Given the description of an element on the screen output the (x, y) to click on. 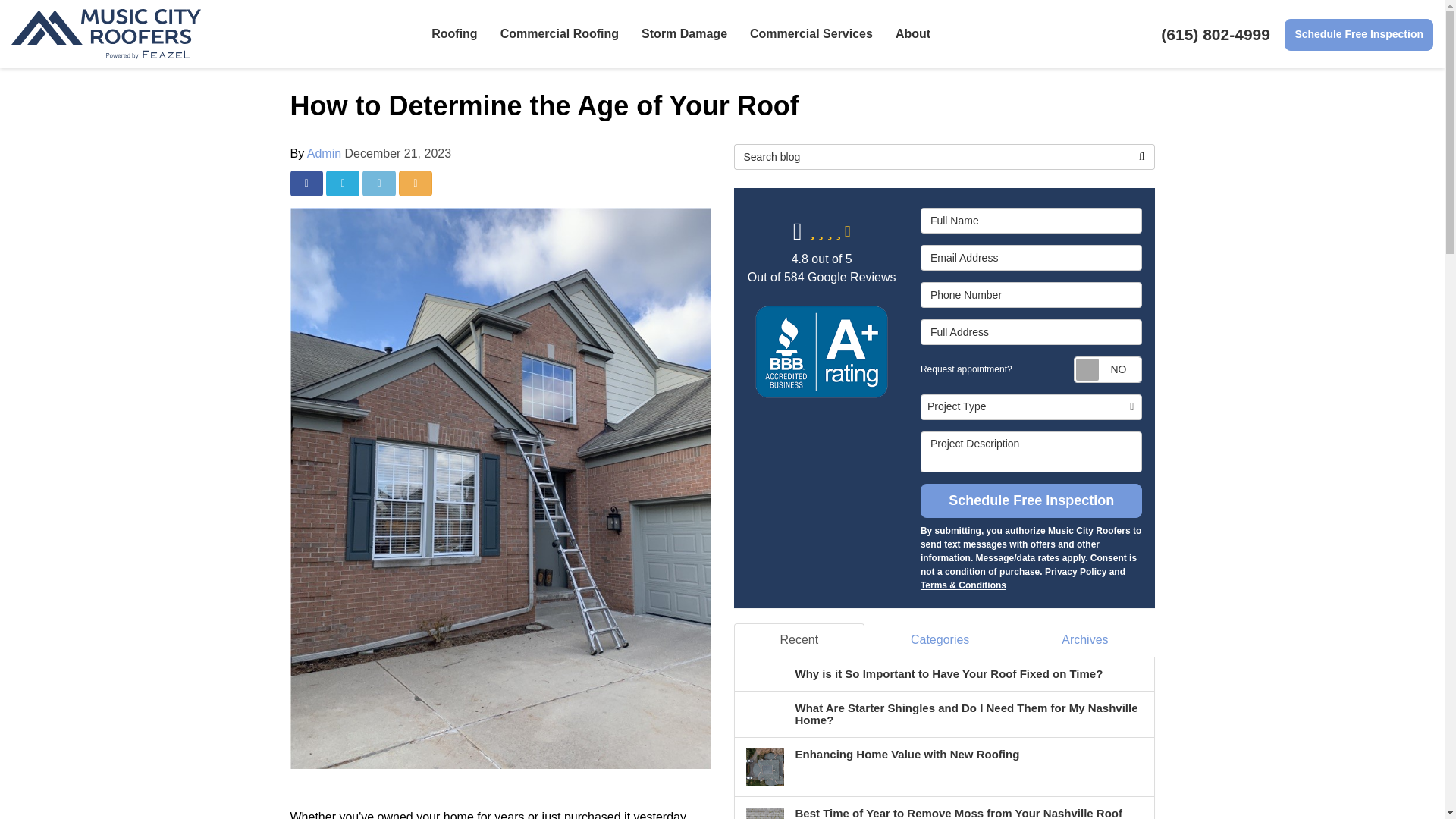
Commercial Services (810, 33)
Schedule Free Inspection (1358, 34)
Commercial Roofing (559, 33)
Roofing (453, 33)
Storm Damage (684, 33)
Schedule Free Inspection (1358, 34)
